Given the description of an element on the screen output the (x, y) to click on. 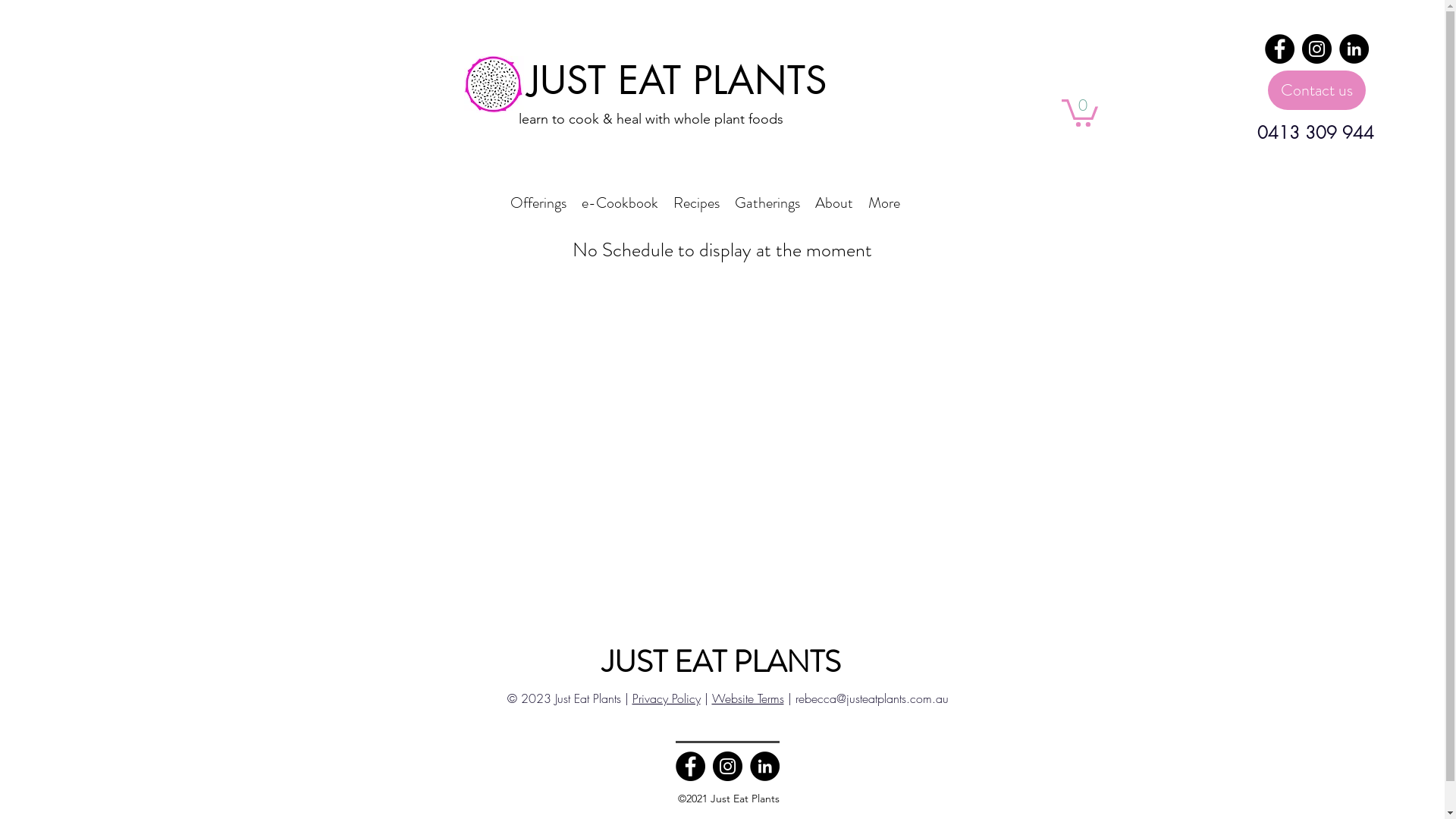
Website Terms Element type: text (747, 698)
Recipes Element type: text (696, 202)
Gatherings Element type: text (766, 202)
Contact us Element type: text (1316, 89)
0 Element type: text (1079, 111)
e-Cookbook Element type: text (619, 202)
rebecca@justeatplants.com.au Element type: text (870, 698)
Privacy Policy Element type: text (666, 698)
Offerings Element type: text (537, 202)
About Element type: text (832, 202)
